Given the description of an element on the screen output the (x, y) to click on. 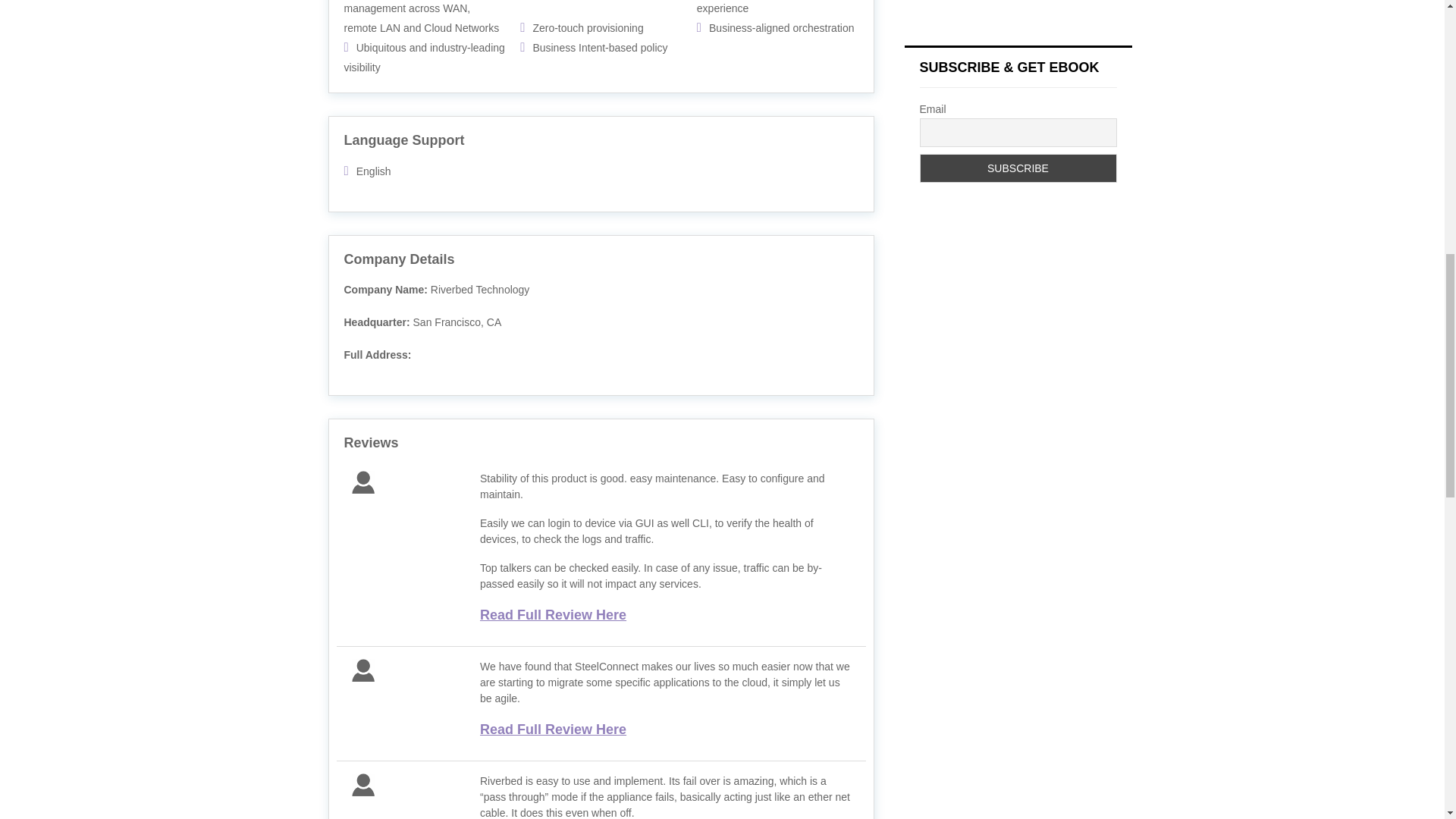
Subscribe (1017, 167)
Read Full Review Here (553, 614)
Read Full Review Here (553, 729)
